Given the description of an element on the screen output the (x, y) to click on. 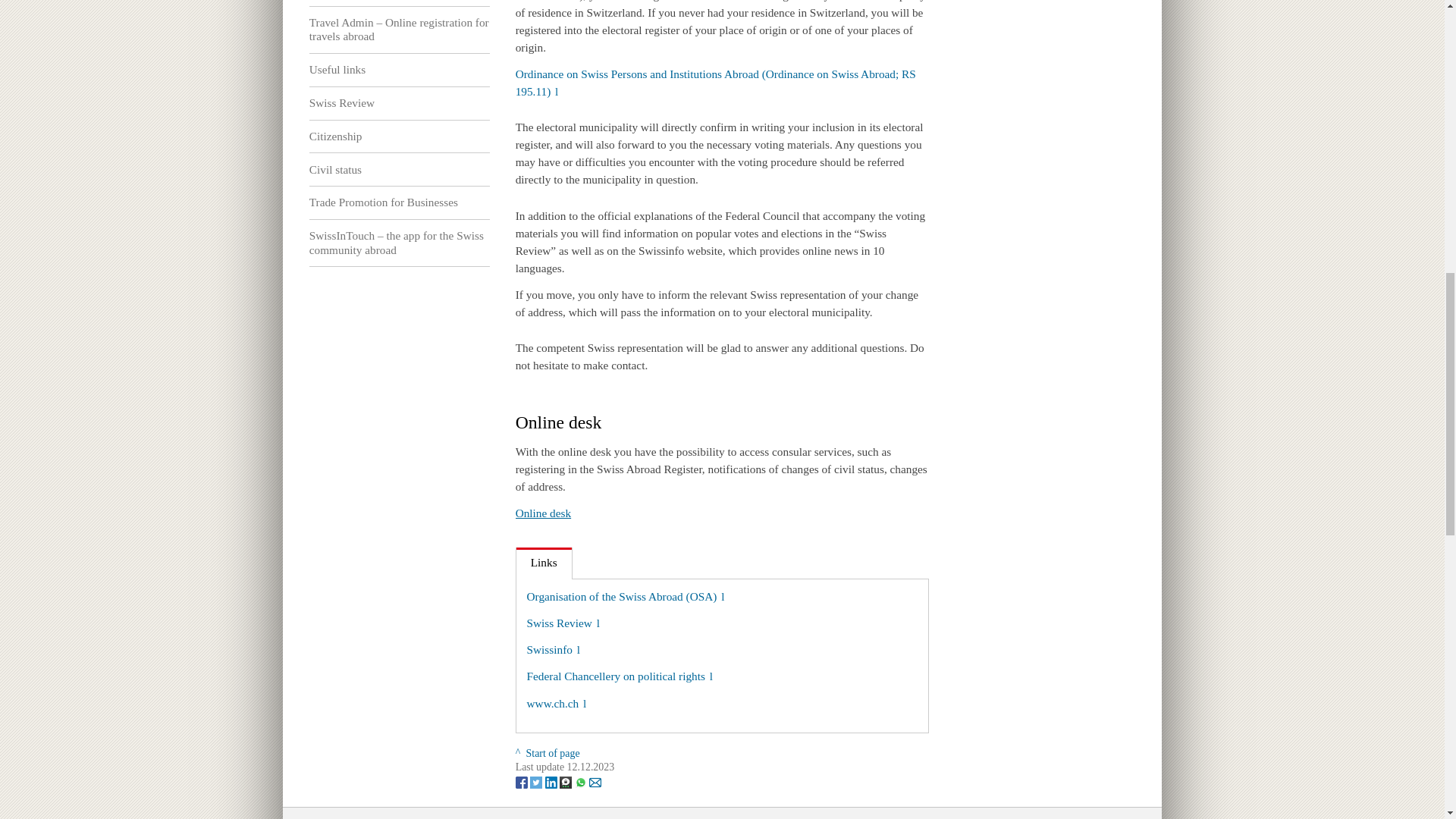
External Link (620, 675)
External Link (626, 595)
External Link (553, 649)
External Link (563, 622)
External Link (556, 703)
External Link (715, 82)
